Given the description of an element on the screen output the (x, y) to click on. 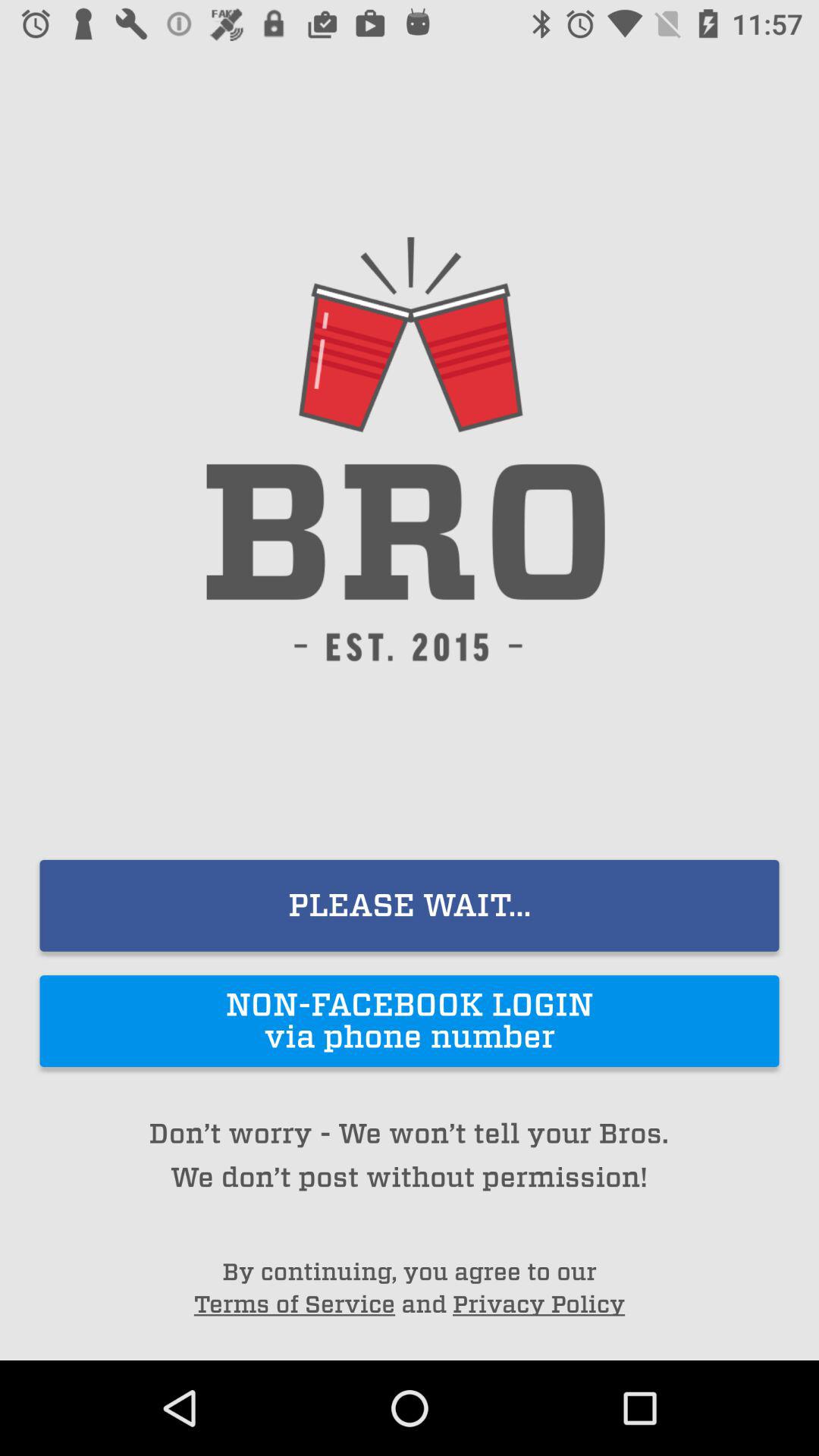
launch the item above the non facebook login (409, 905)
